Given the description of an element on the screen output the (x, y) to click on. 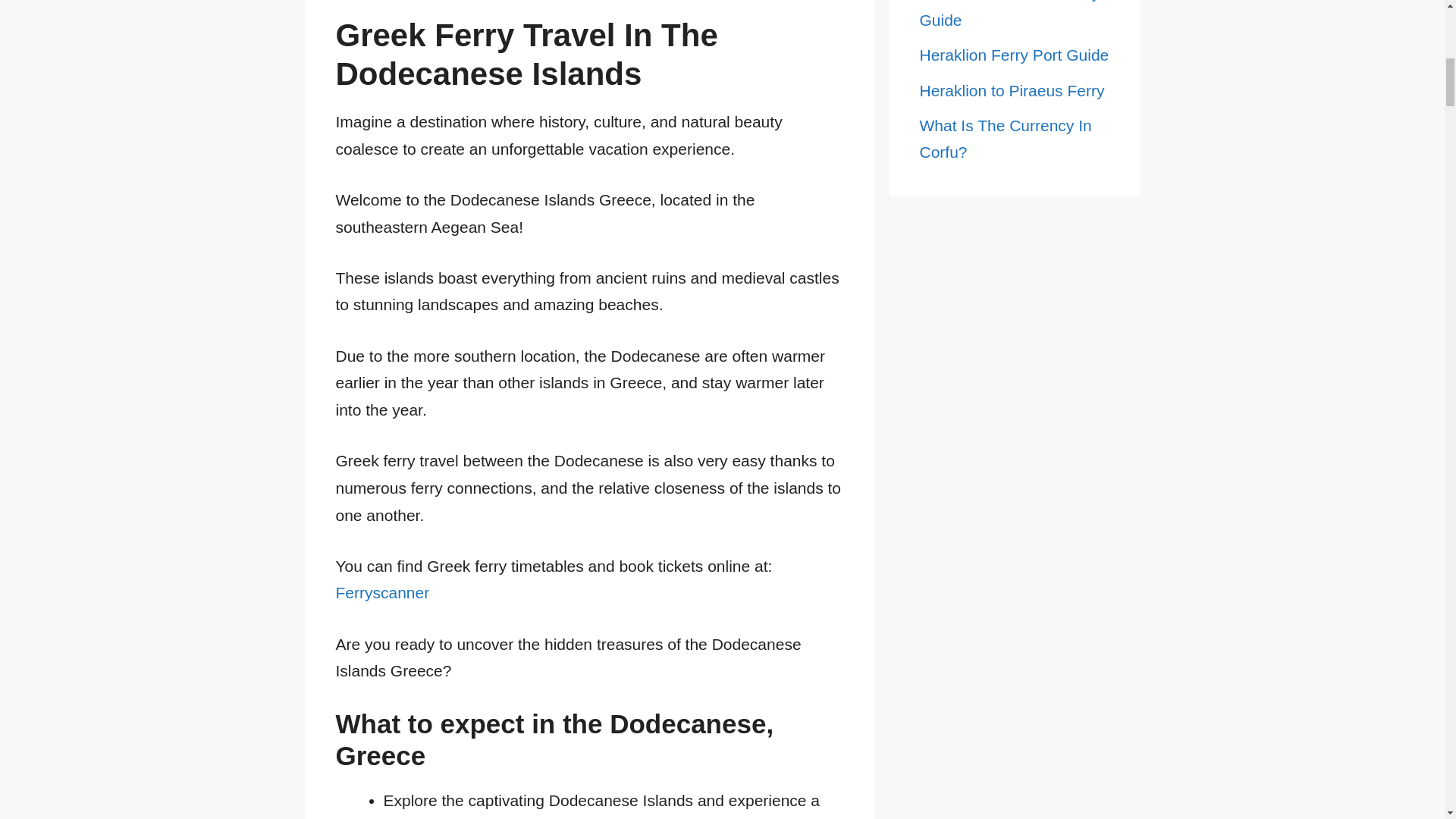
Heraklion Ferry Port Guide (1013, 54)
What Is The Currency In Corfu? (1004, 139)
Ferryscanner (381, 592)
Heraklion to Piraeus Ferry (1010, 90)
Paros To Donoussa Ferry Guide (1008, 14)
